Given the description of an element on the screen output the (x, y) to click on. 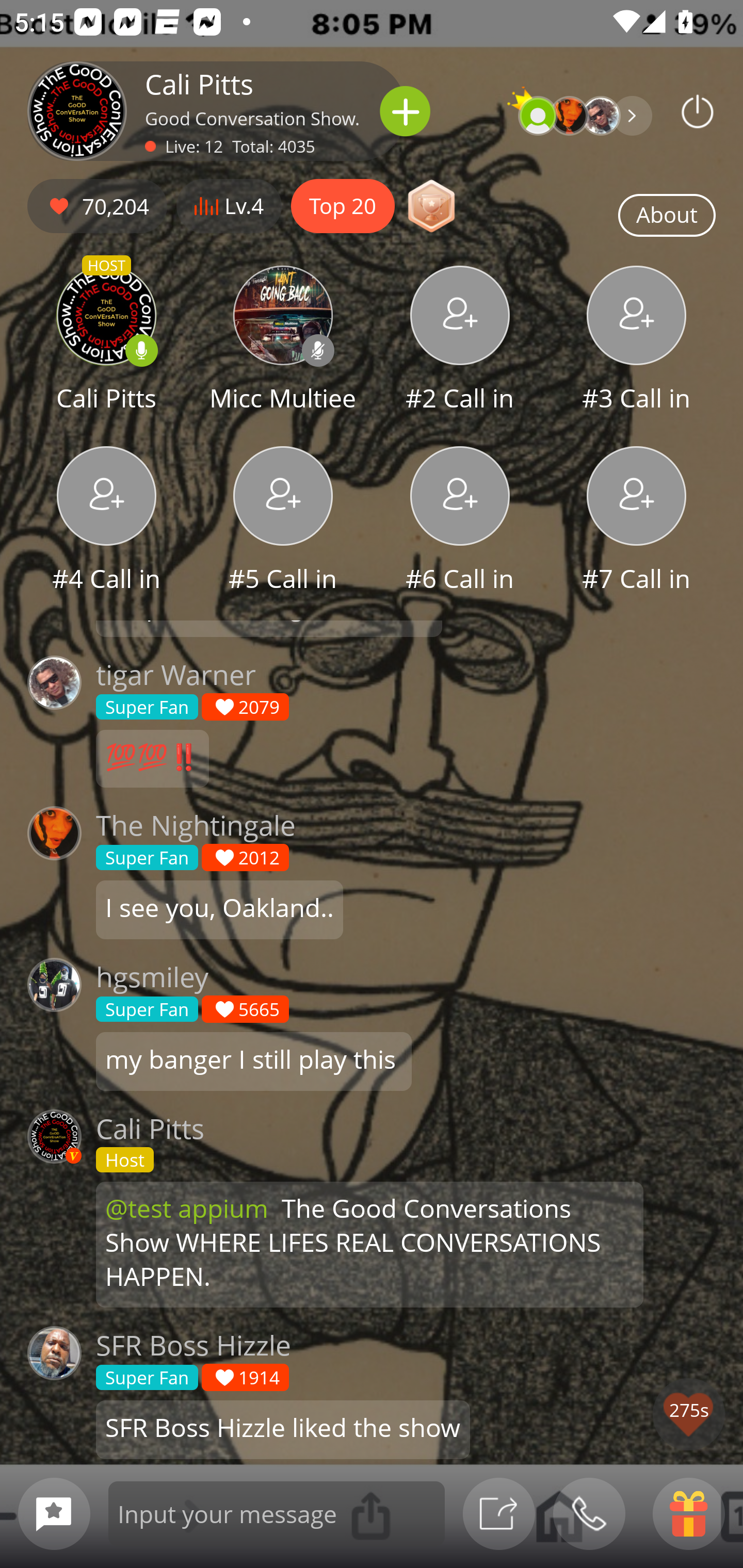
Podbean (697, 111)
About (666, 215)
HOST Cali Pitts (105, 340)
Micc Multiee (282, 340)
#2 Call in (459, 340)
#3 Call in (636, 340)
#4 Call in (105, 521)
#5 Call in (282, 521)
#6 Call in (459, 521)
#7 Call in (636, 521)
Input your message (276, 1513)
